Given the description of an element on the screen output the (x, y) to click on. 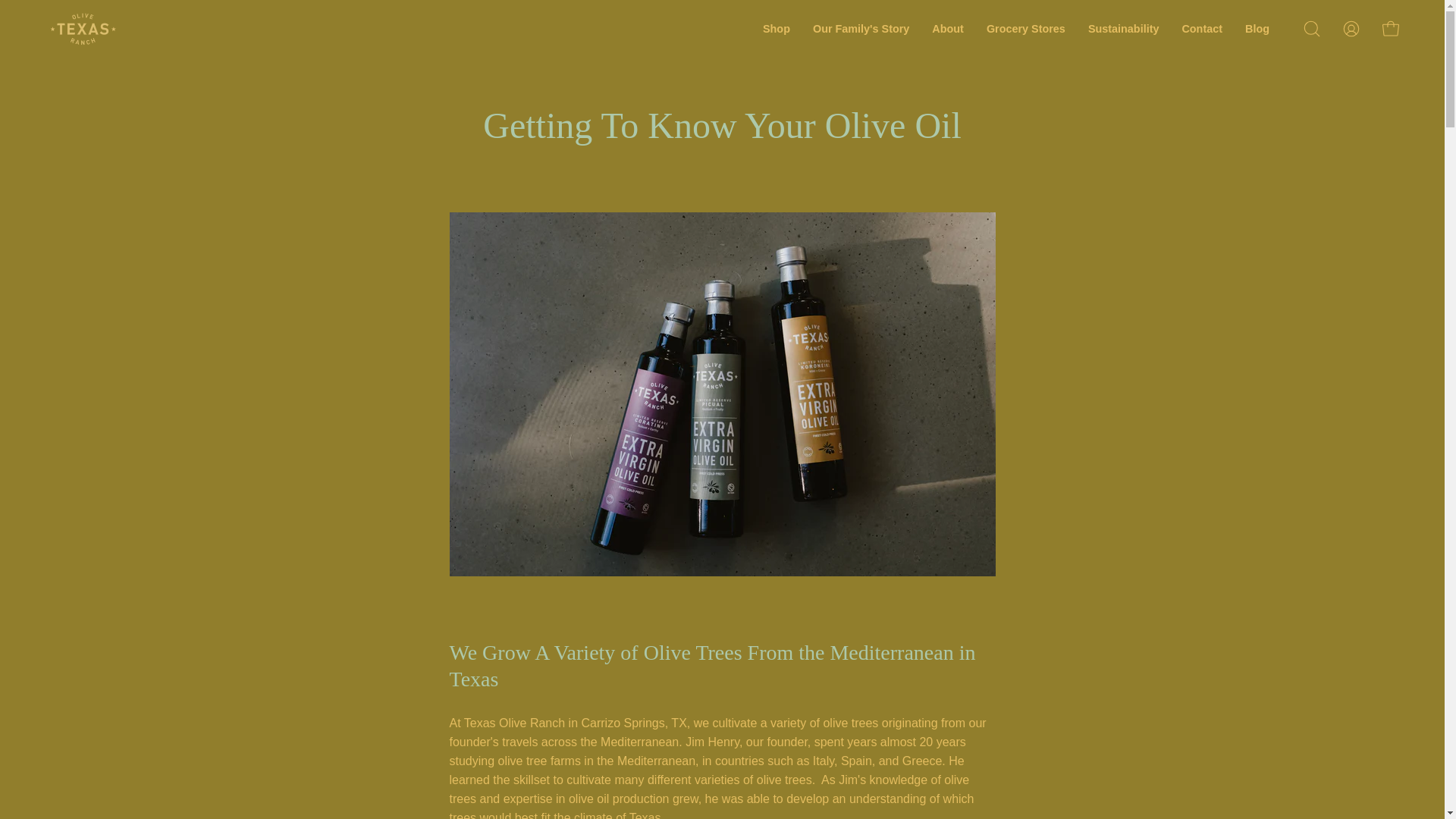
Our Family's Story (861, 28)
Sustainability (1123, 28)
Grocery Stores (1026, 28)
Open search bar (1311, 29)
Contact (1201, 28)
About (947, 28)
